Given the description of an element on the screen output the (x, y) to click on. 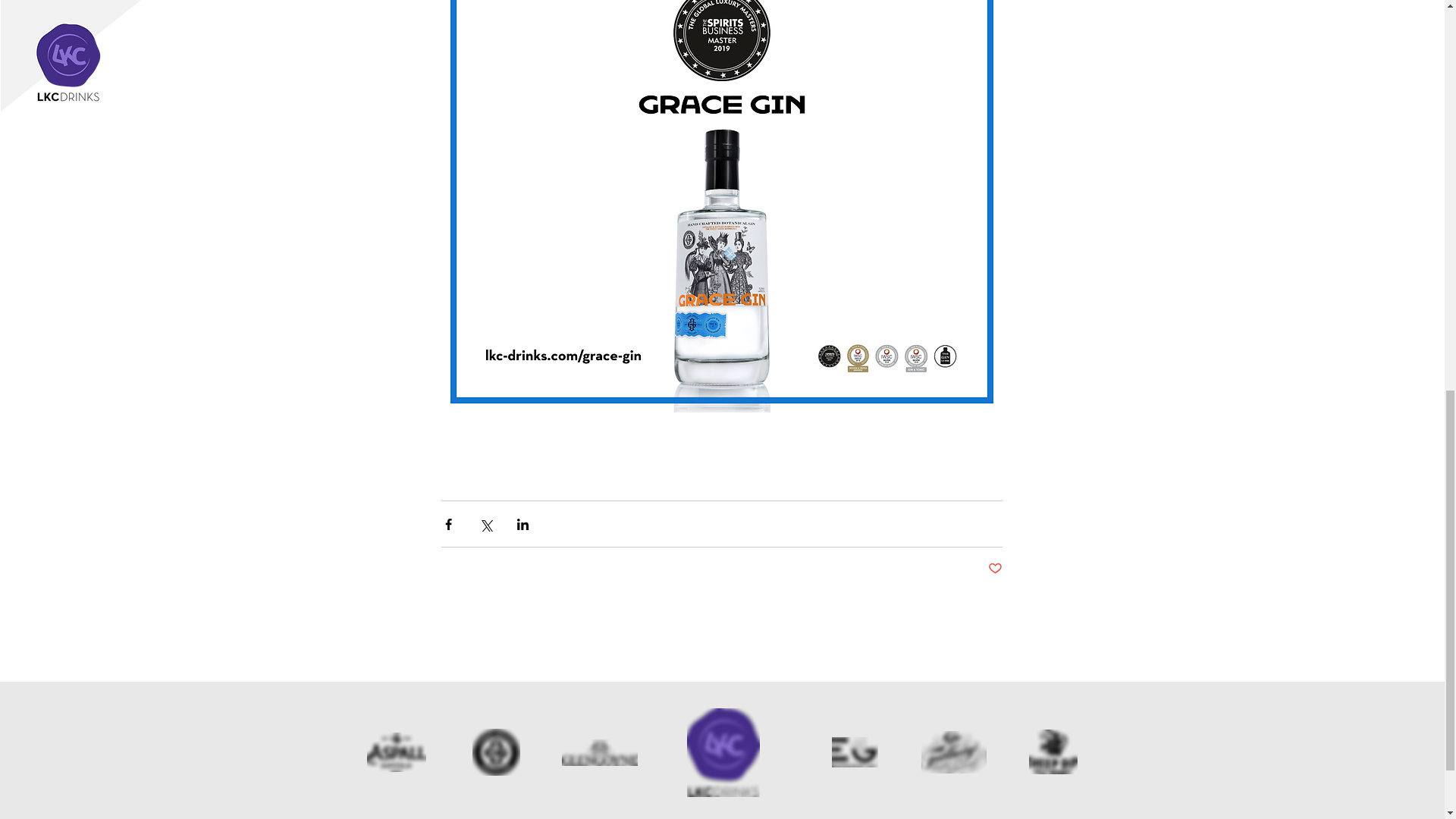
Post not marked as liked (994, 569)
